Given the description of an element on the screen output the (x, y) to click on. 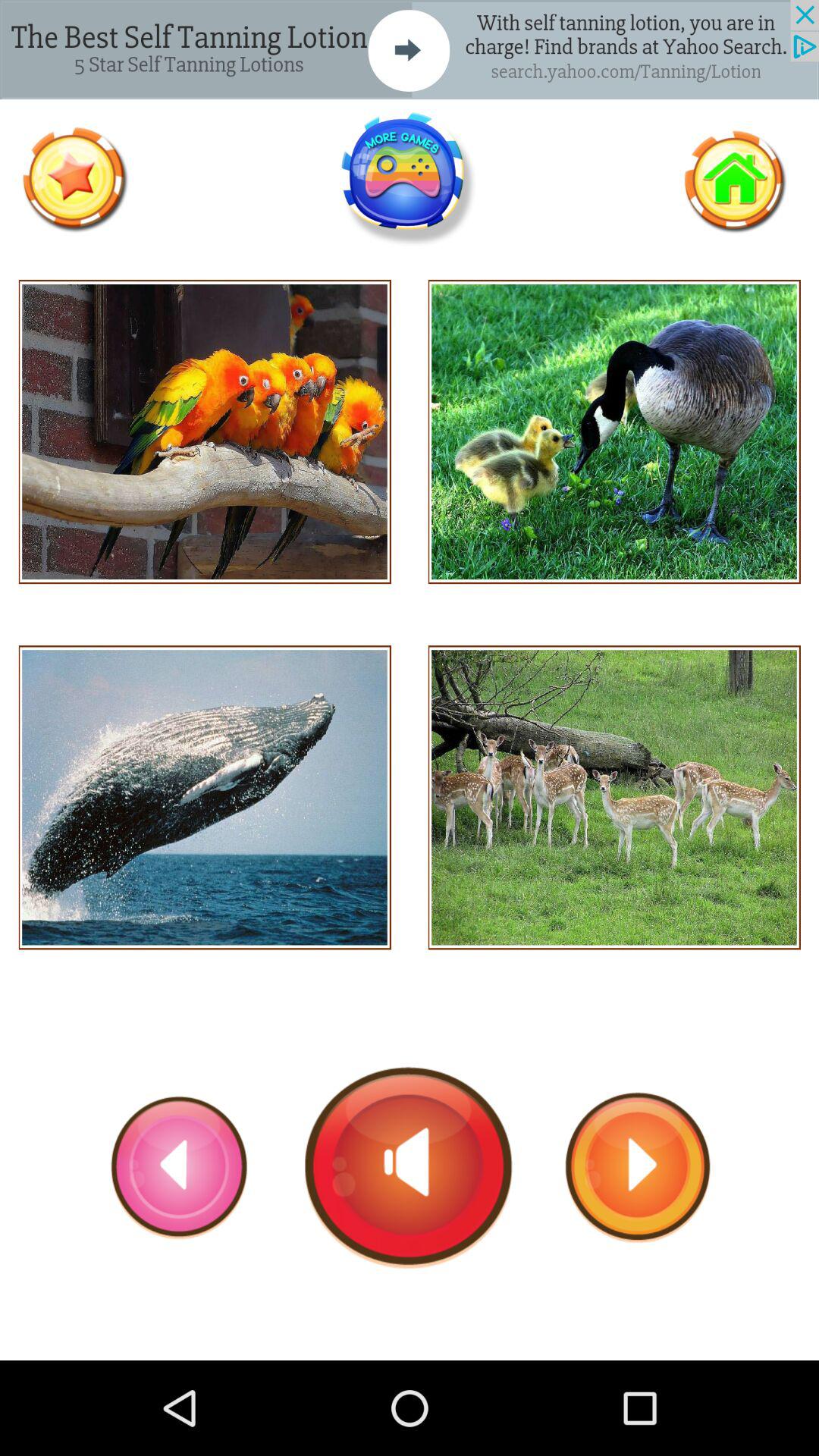
turn on sound (408, 1166)
